Given the description of an element on the screen output the (x, y) to click on. 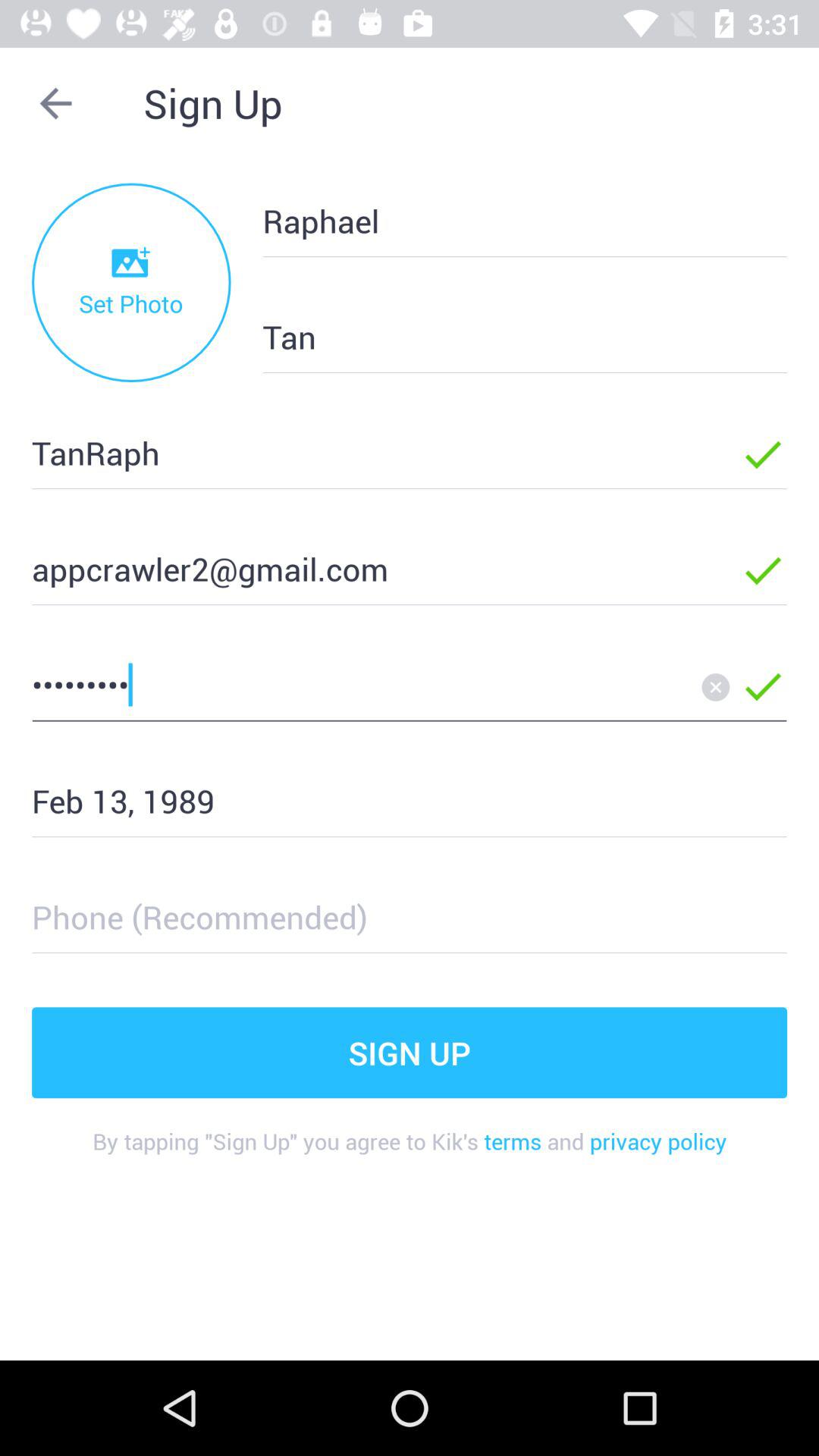
click the item below sign up icon (500, 220)
